Given the description of an element on the screen output the (x, y) to click on. 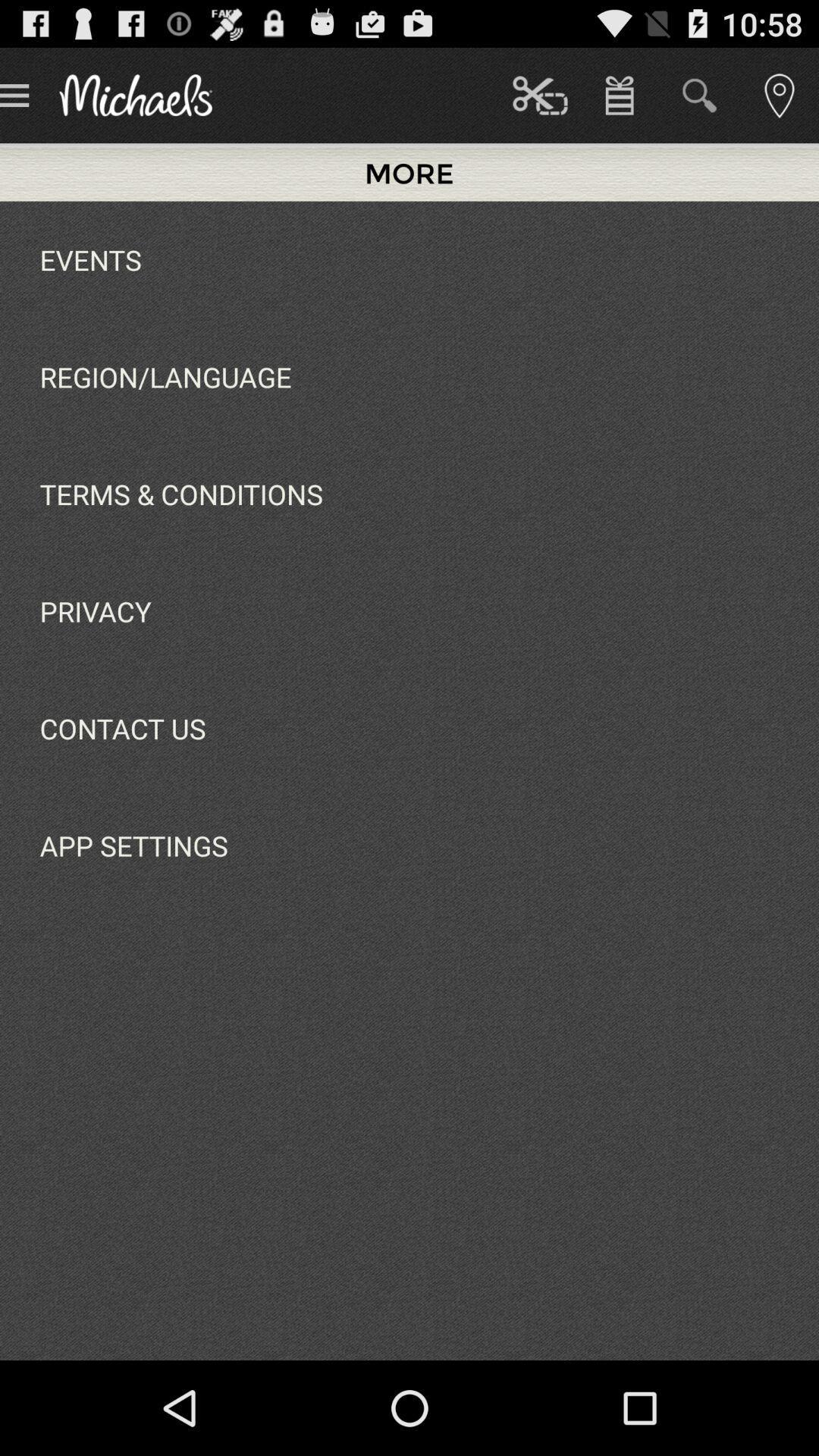
tap app below contact us app (133, 845)
